Given the description of an element on the screen output the (x, y) to click on. 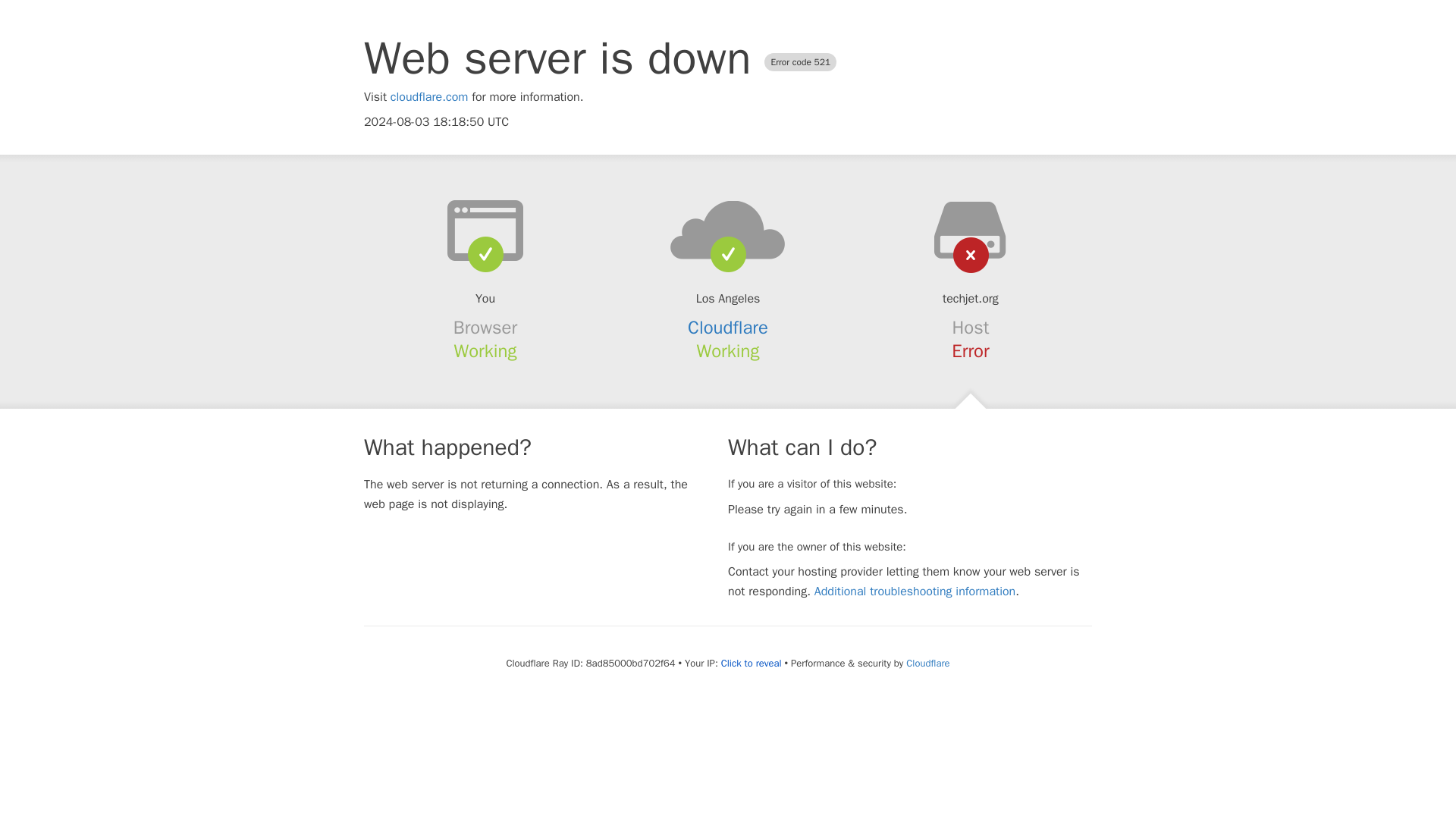
Click to reveal (750, 663)
Cloudflare (927, 662)
cloudflare.com (429, 96)
Cloudflare (727, 327)
Additional troubleshooting information (913, 590)
